Given the description of an element on the screen output the (x, y) to click on. 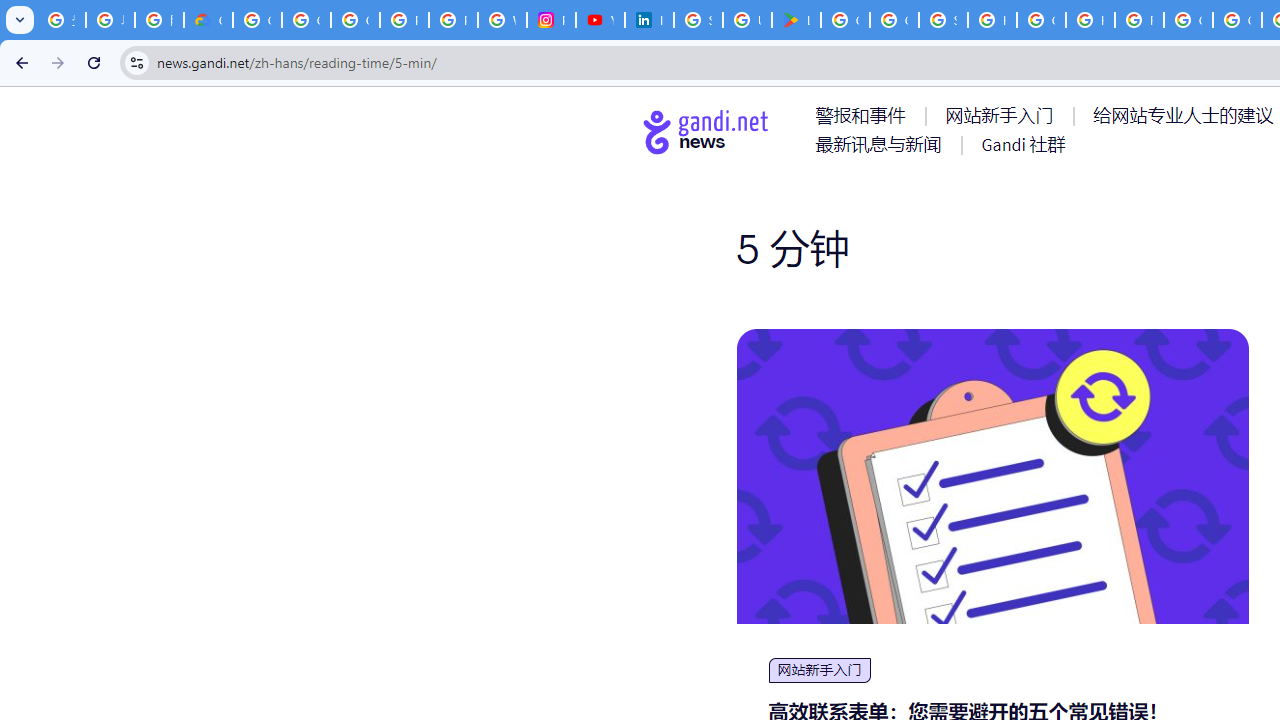
Google Workspace - Specific Terms (894, 20)
AutomationID: menu-item-77766 (882, 143)
AutomationID: menu-item-77761 (863, 115)
YouTube Culture & Trends - On The Rise: Handcam Videos (600, 20)
How do I create a new Google Account? - Google Account Help (1090, 20)
